Given the description of an element on the screen output the (x, y) to click on. 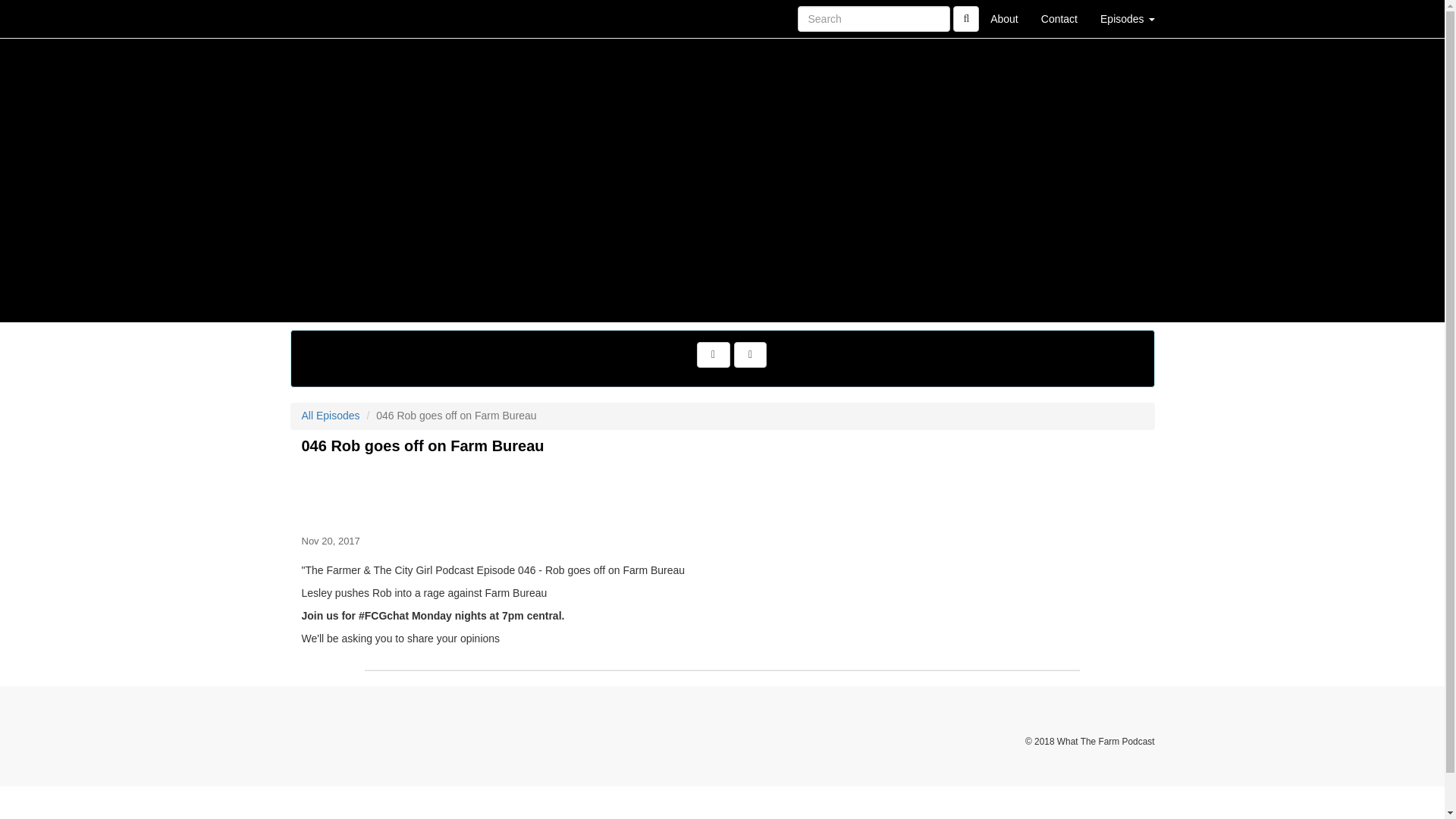
Episodes (1127, 18)
Contact (1059, 18)
Home Page (320, 18)
046 Rob goes off on Farm Bureau  (721, 491)
About (1003, 18)
